Given the description of an element on the screen output the (x, y) to click on. 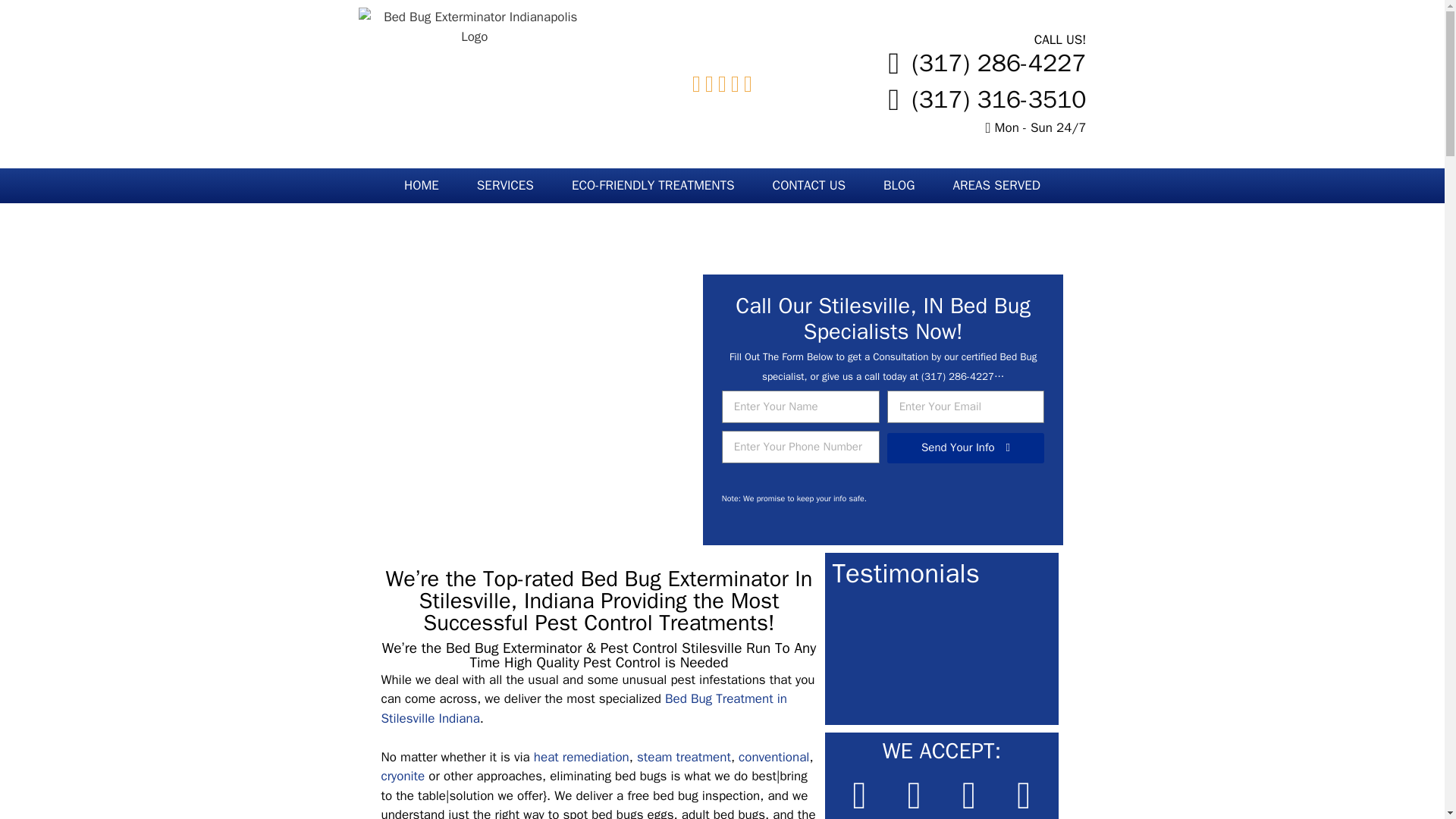
ECO-FRIENDLY TREATMENTS (653, 185)
AREAS SERVED (996, 185)
SERVICES (505, 185)
CONTACT US (809, 185)
BLOG (898, 185)
HOME (421, 185)
